Given the description of an element on the screen output the (x, y) to click on. 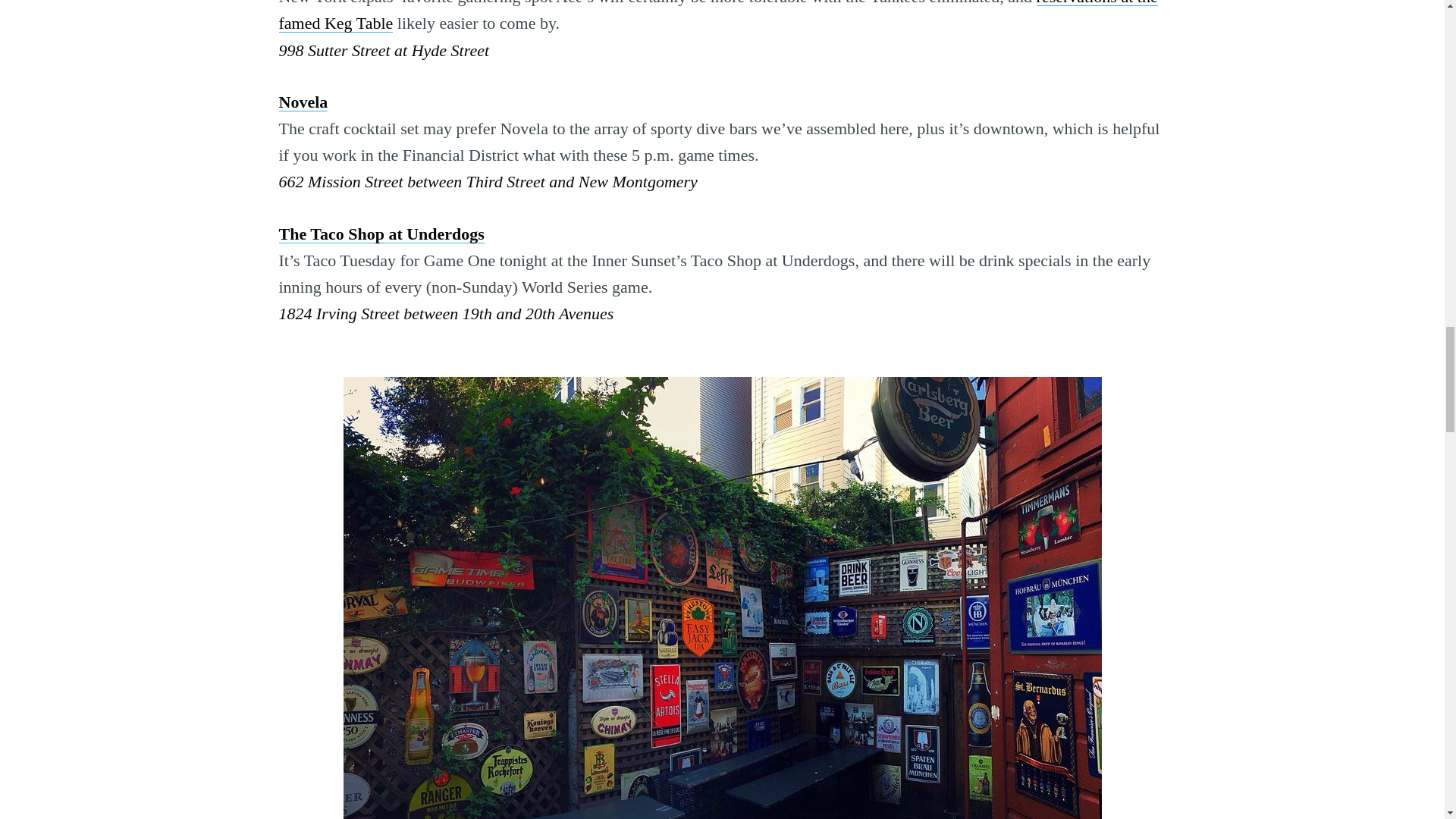
reservations at the famed Keg Table (718, 16)
Novela (304, 101)
The Taco Shop at Underdogs (381, 233)
